Given the description of an element on the screen output the (x, y) to click on. 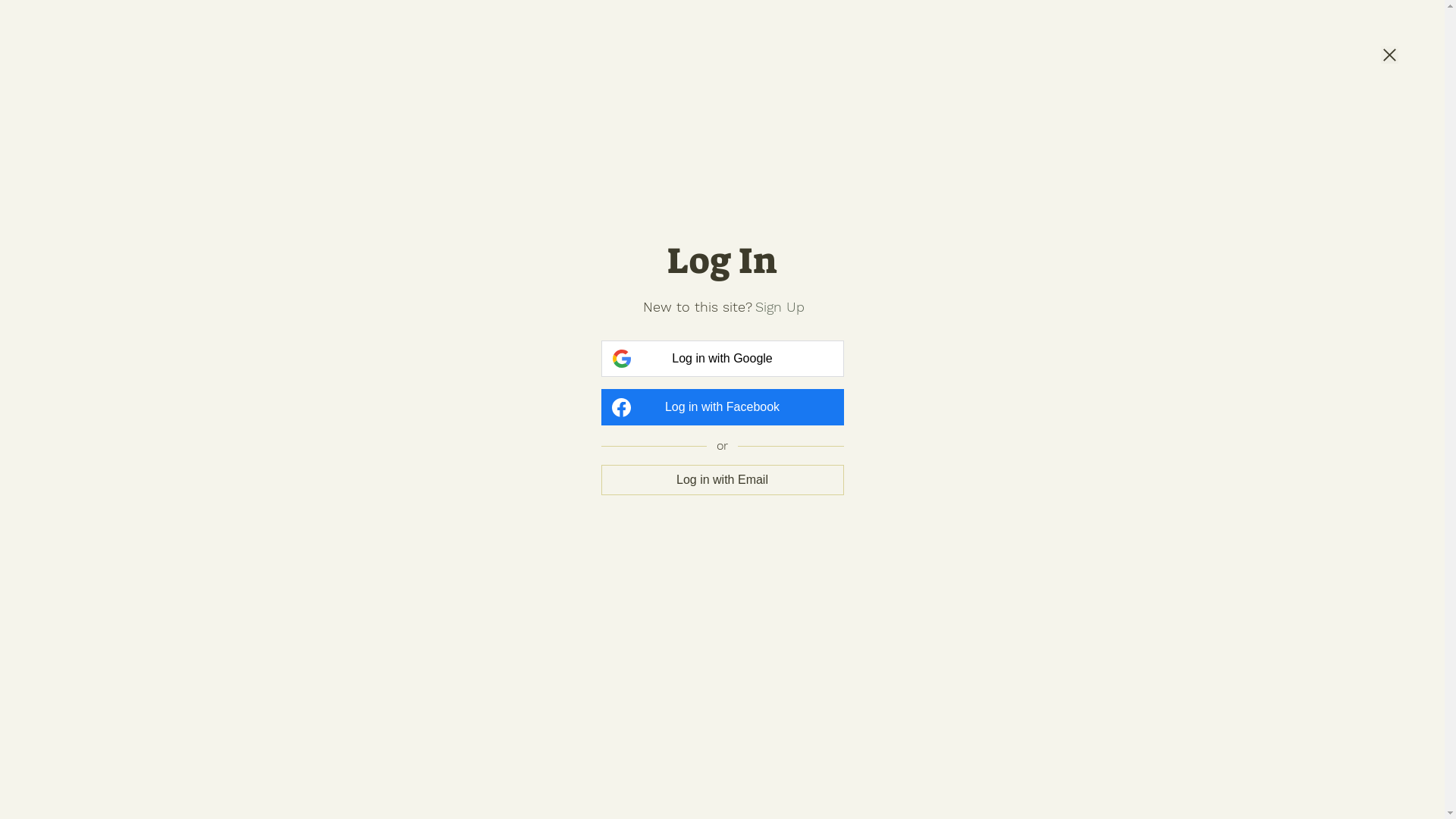
Log in with Facebook Element type: text (721, 407)
Log in with Email Element type: text (721, 479)
Log in with Google Element type: text (721, 358)
Sign Up Element type: text (779, 306)
